Given the description of an element on the screen output the (x, y) to click on. 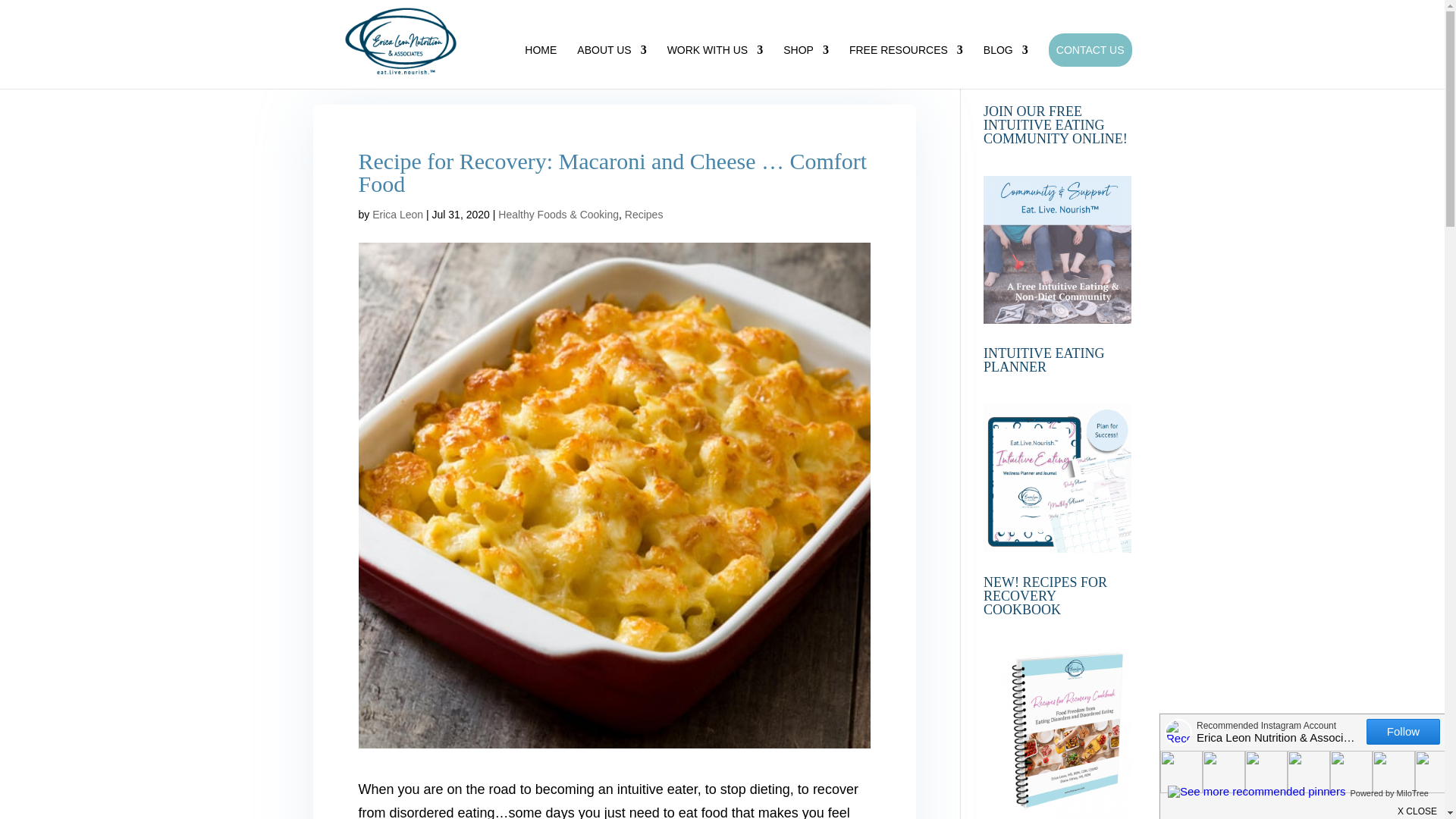
WORK WITH US (714, 66)
ABOUT US (611, 66)
BLOG (1005, 66)
SHOP (805, 66)
FREE RESOURCES (905, 66)
Posts by Erica Leon (397, 214)
CONTACT US (1090, 49)
